Given the description of an element on the screen output the (x, y) to click on. 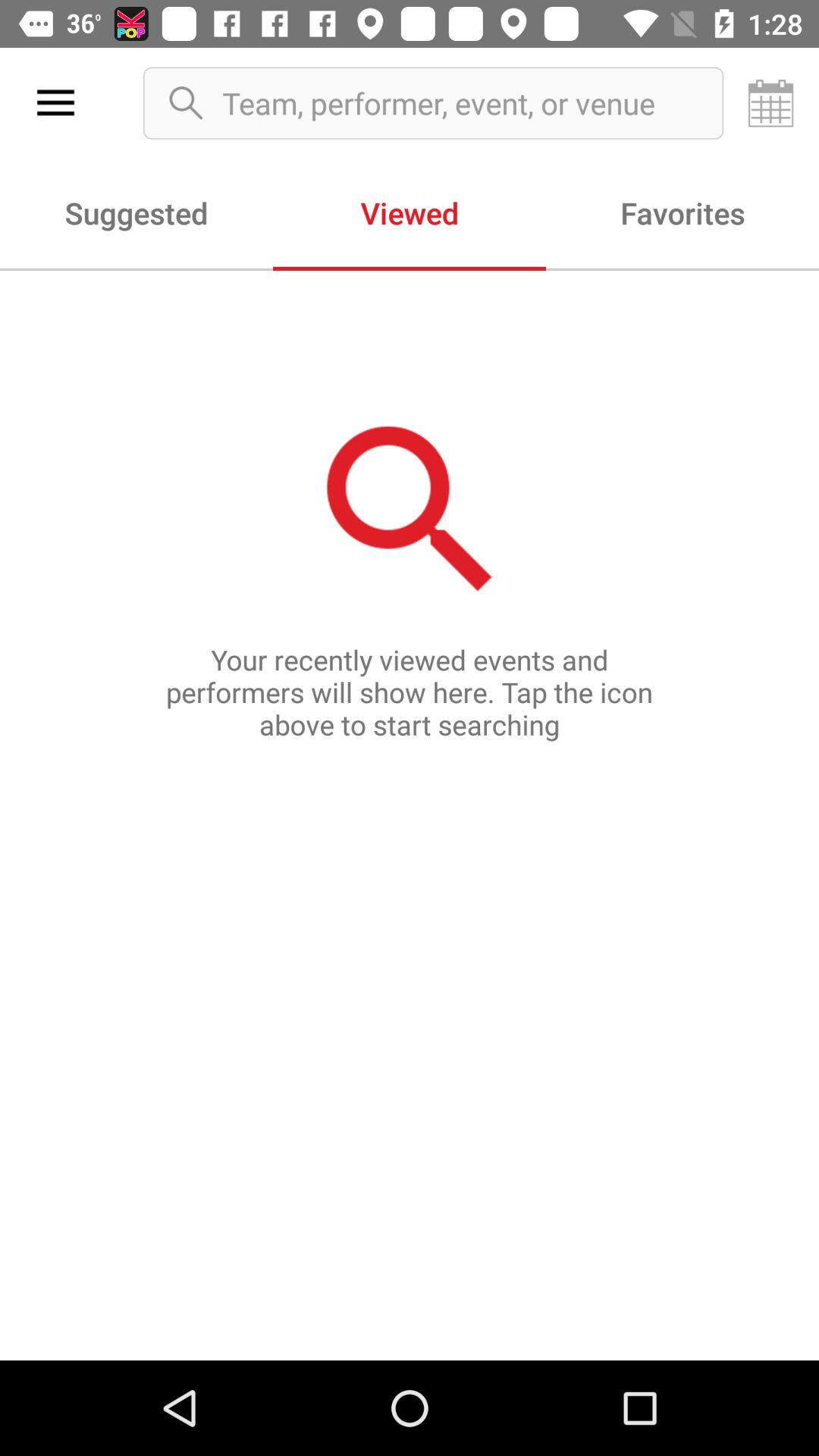
choose the icon to the right of team performer event icon (771, 103)
